Given the description of an element on the screen output the (x, y) to click on. 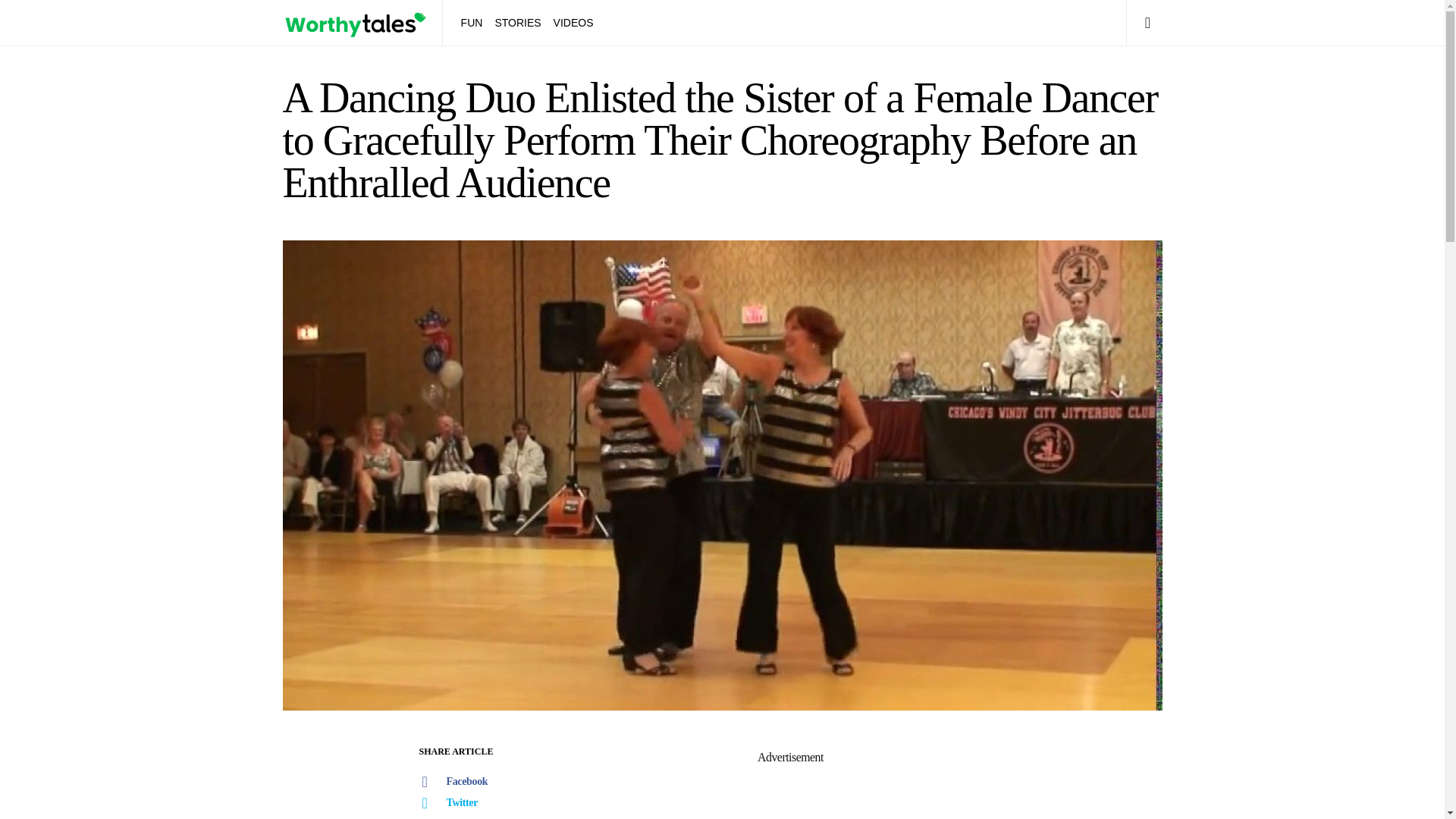
VIDEOS (570, 22)
Twitter (470, 803)
Facebook (470, 781)
Advertisement (789, 793)
STORIES (517, 22)
